Given the description of an element on the screen output the (x, y) to click on. 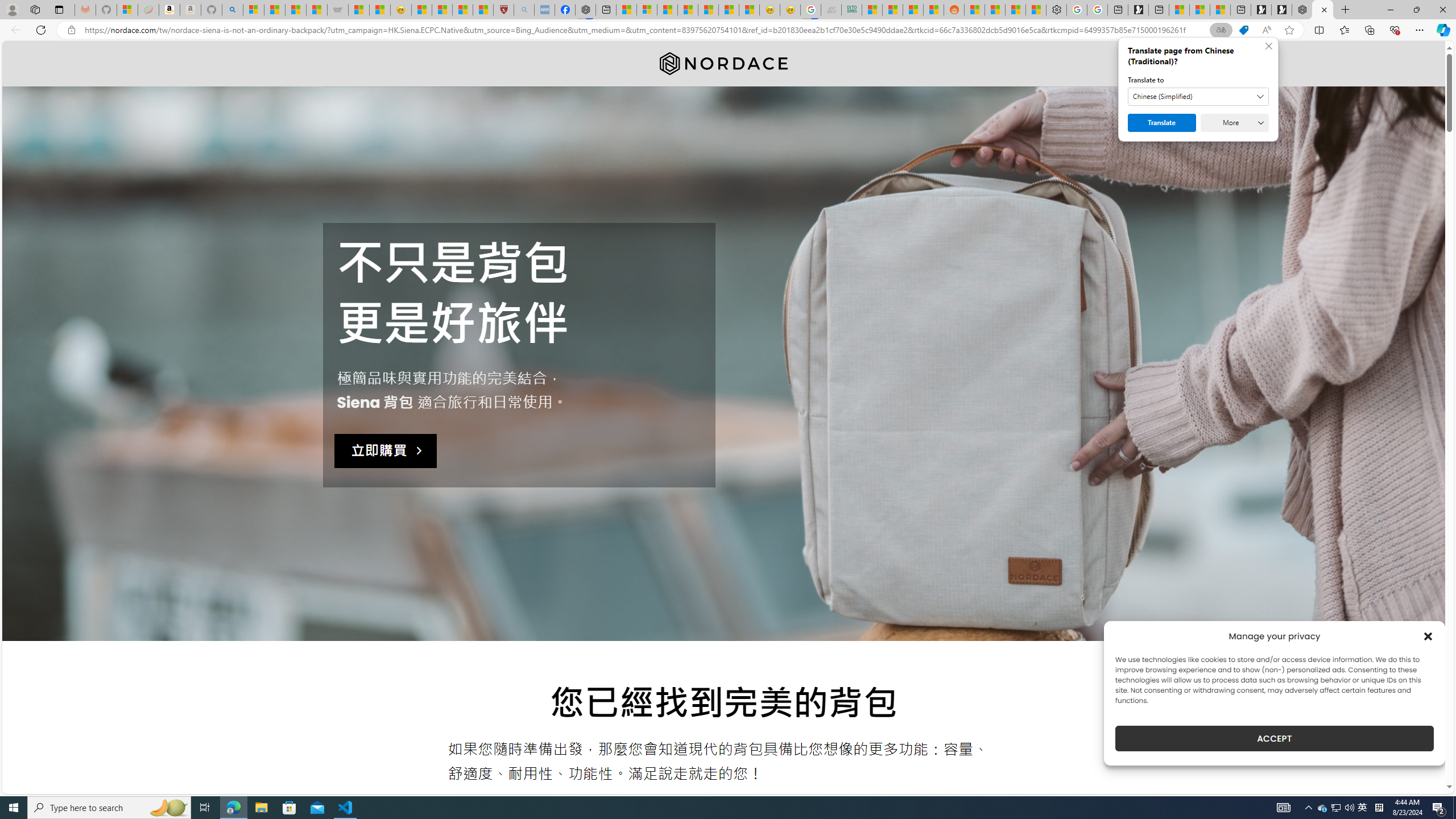
Class: cmplz-close (1428, 636)
Show translate options (1220, 29)
12 Popular Science Lies that Must be Corrected (482, 9)
